Given the description of an element on the screen output the (x, y) to click on. 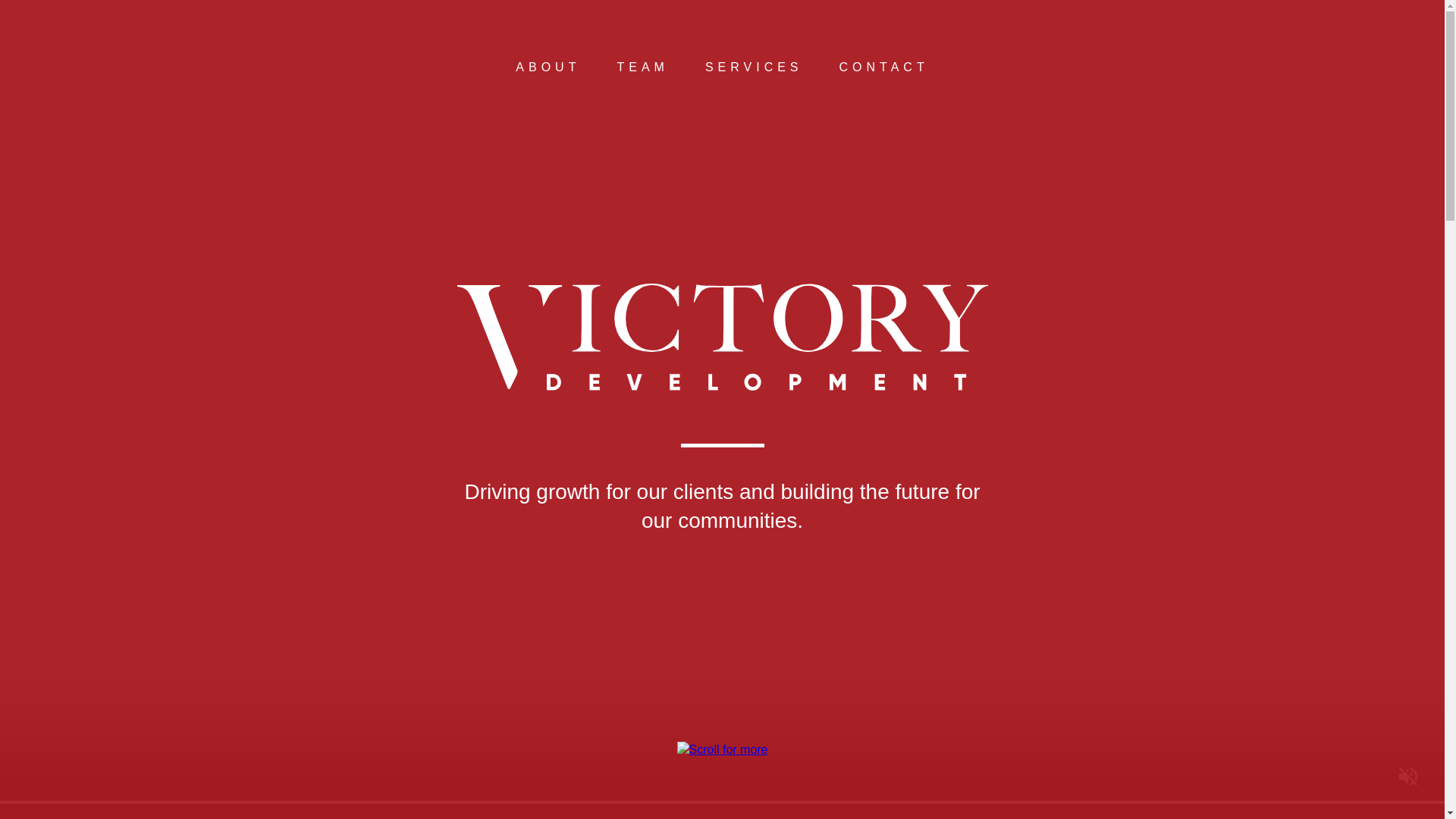
ABOUT (547, 67)
TEAM (641, 67)
SERVICES (753, 67)
CONTACT (884, 67)
